Given the description of an element on the screen output the (x, y) to click on. 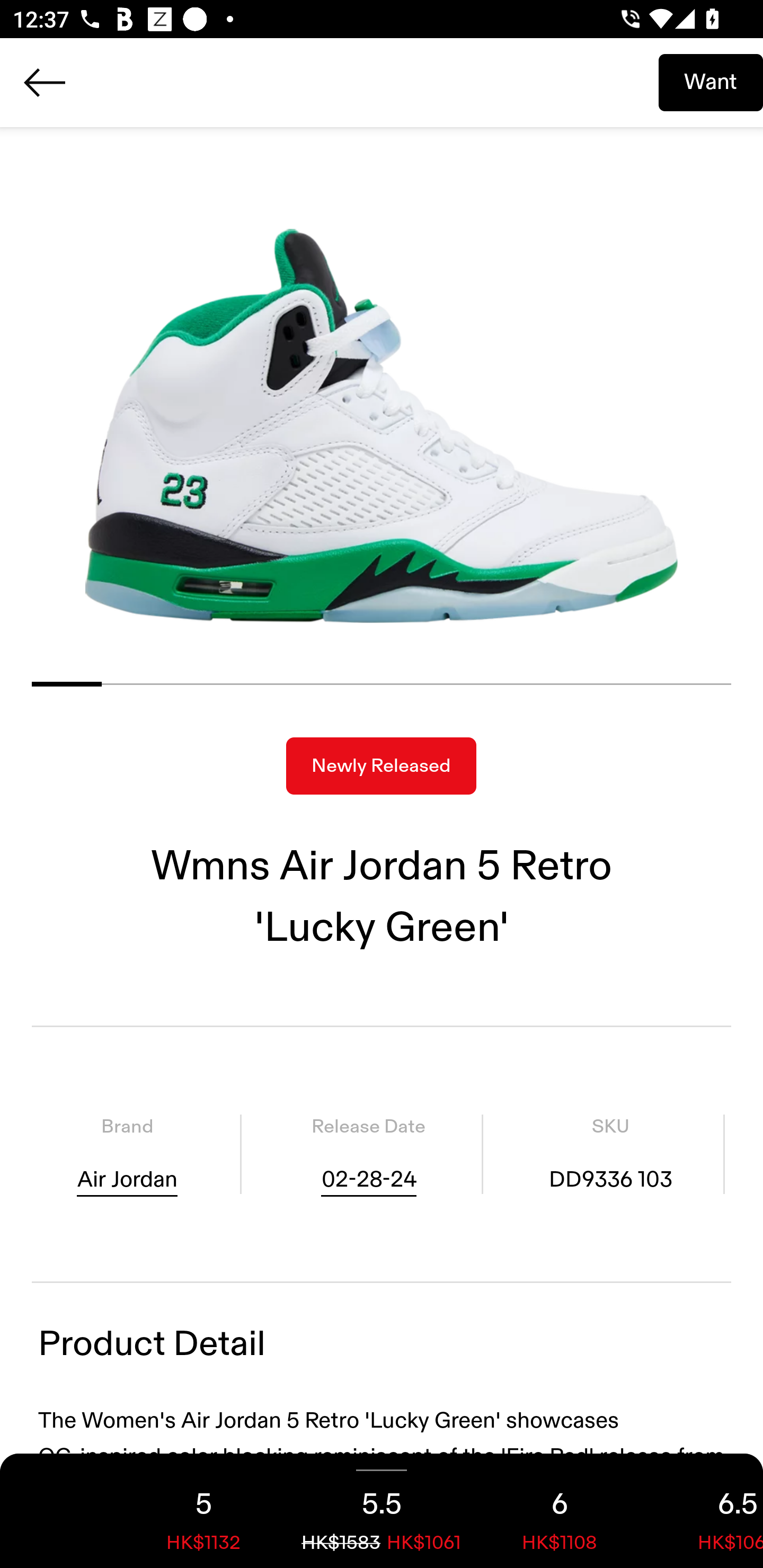
Want (710, 82)
Newly Released (381, 765)
Brand Air Jordan (126, 1153)
Release Date 02-28-24 (368, 1153)
SKU DD9336 103 (609, 1153)
5 HK$1132 (203, 1510)
5.5 HK$1583 HK$1061 (381, 1510)
6 HK$1108 (559, 1510)
6.5 HK$1068 (705, 1510)
